Given the description of an element on the screen output the (x, y) to click on. 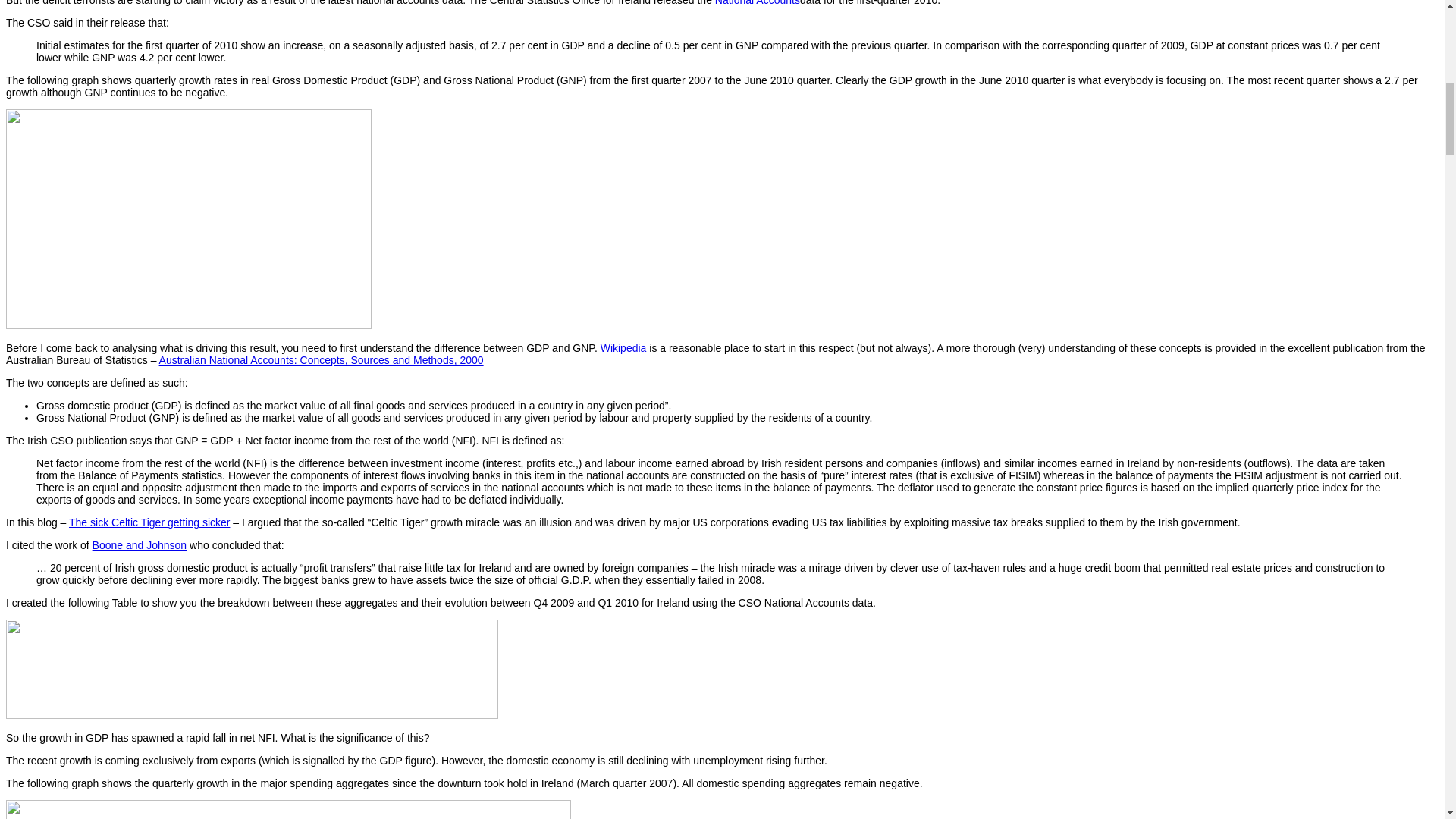
The sick Celtic Tiger getting sicker (149, 522)
Wikipedia (622, 347)
National Accounts (756, 2)
Boone and Johnson (140, 544)
